Given the description of an element on the screen output the (x, y) to click on. 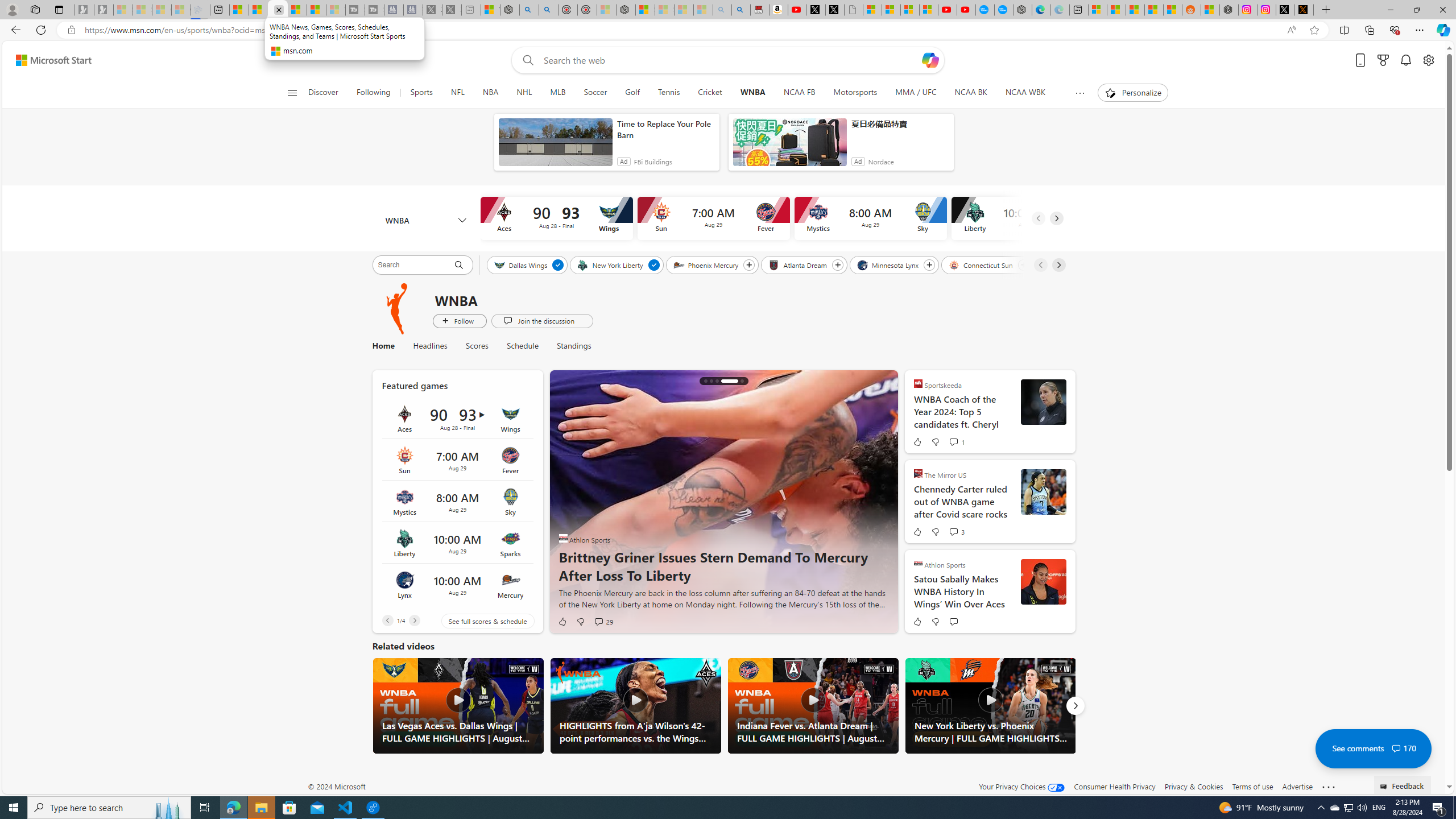
Follow WNBA 2024 (459, 320)
NFL (457, 92)
X (834, 9)
Schedule (522, 345)
Headlines (429, 345)
Join the discussion (541, 320)
Feedback (1402, 784)
Connecticut Sun (982, 264)
MMA / UFC (915, 92)
Tennis (668, 92)
